Given the description of an element on the screen output the (x, y) to click on. 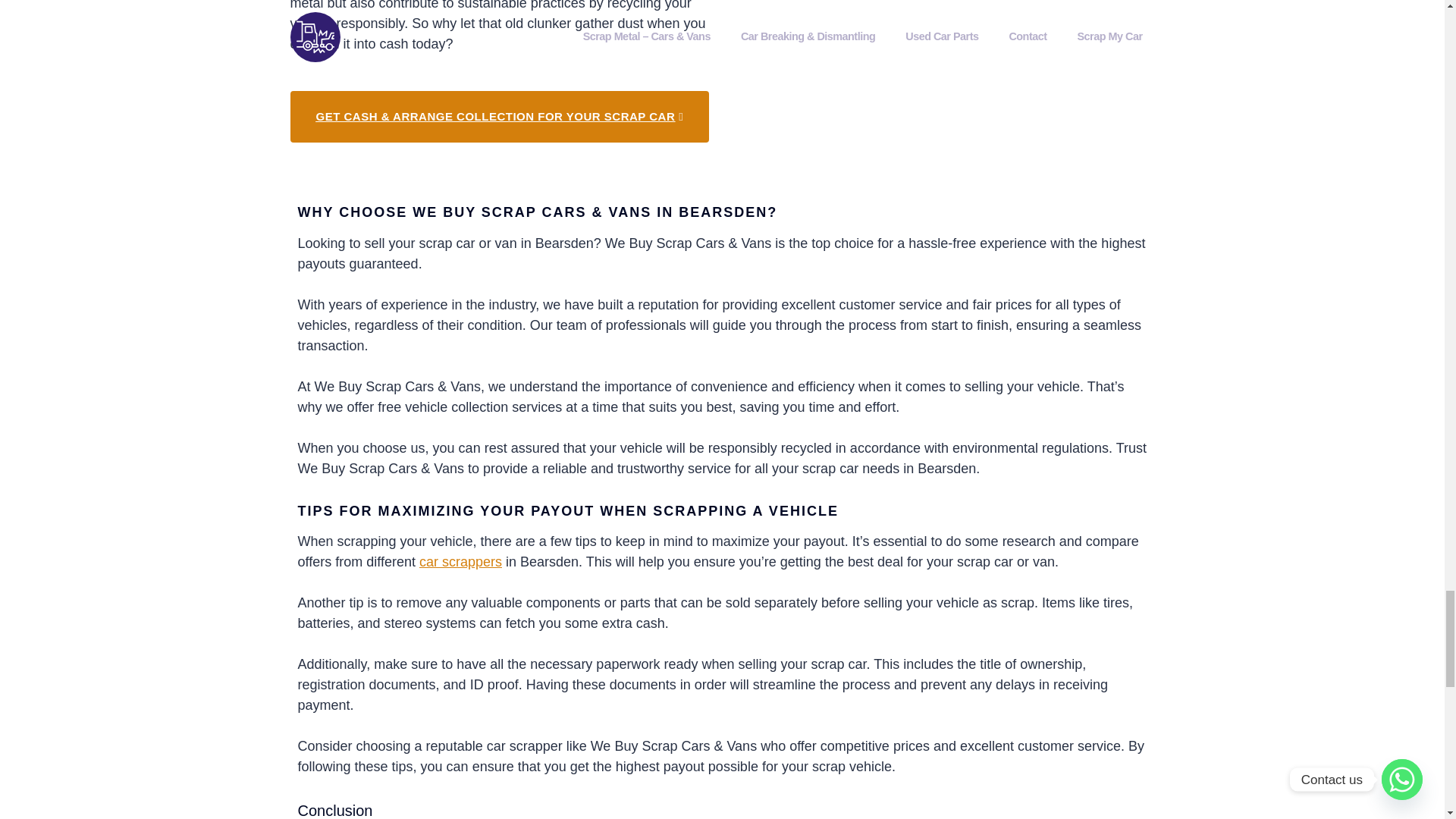
car scrappers (460, 561)
